Given the description of an element on the screen output the (x, y) to click on. 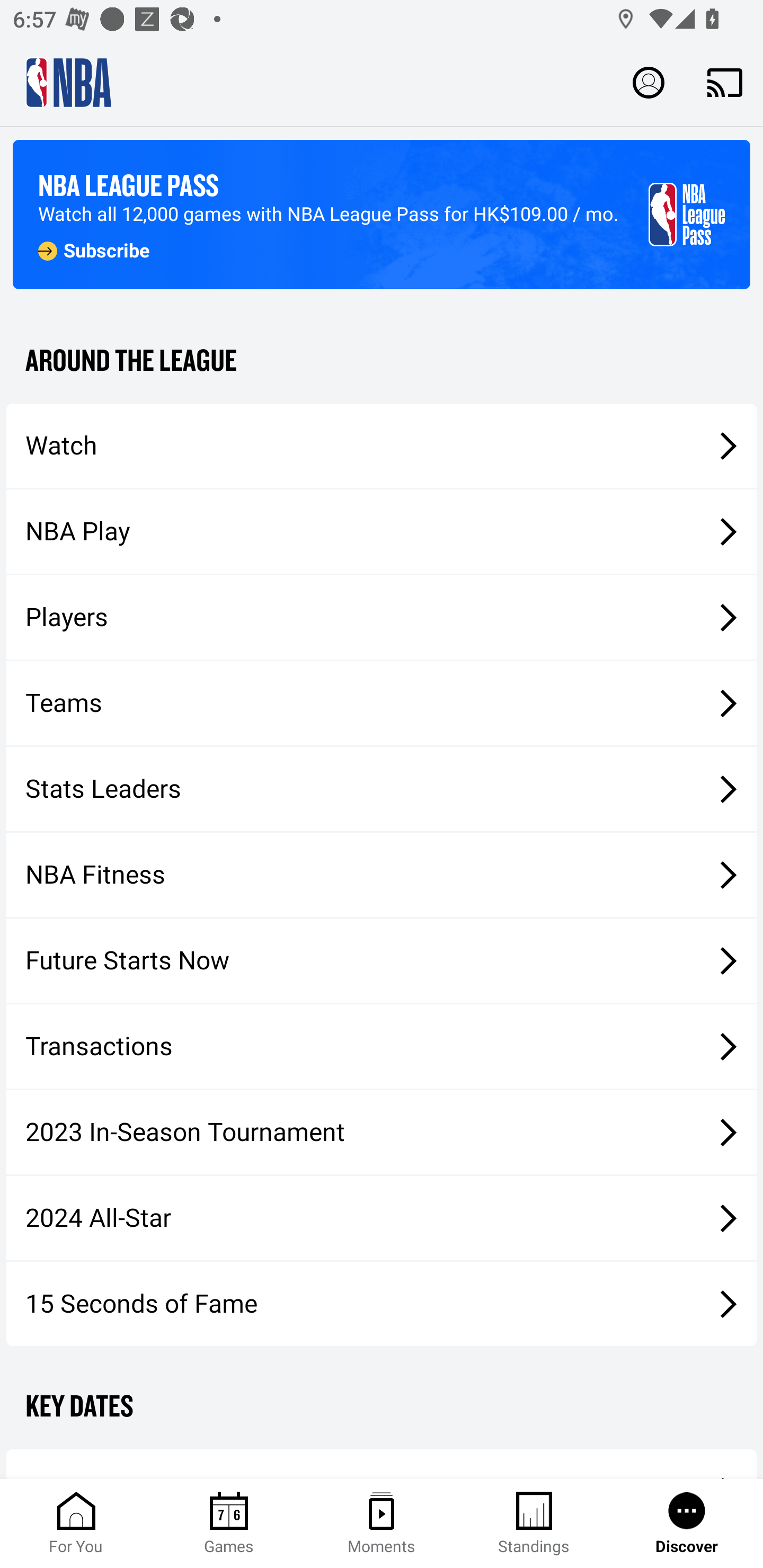
Cast. Disconnected (724, 82)
Profile (648, 81)
Watch (381, 444)
NBA Play (381, 531)
Players (381, 617)
Teams (381, 702)
Stats Leaders (381, 788)
NBA Fitness (381, 874)
Future Starts Now (381, 960)
Transactions (381, 1046)
2023 In-Season Tournament (381, 1131)
2024 All-Star (381, 1218)
15 Seconds of Fame (381, 1303)
For You (76, 1523)
Games (228, 1523)
Moments (381, 1523)
Standings (533, 1523)
